Given the description of an element on the screen output the (x, y) to click on. 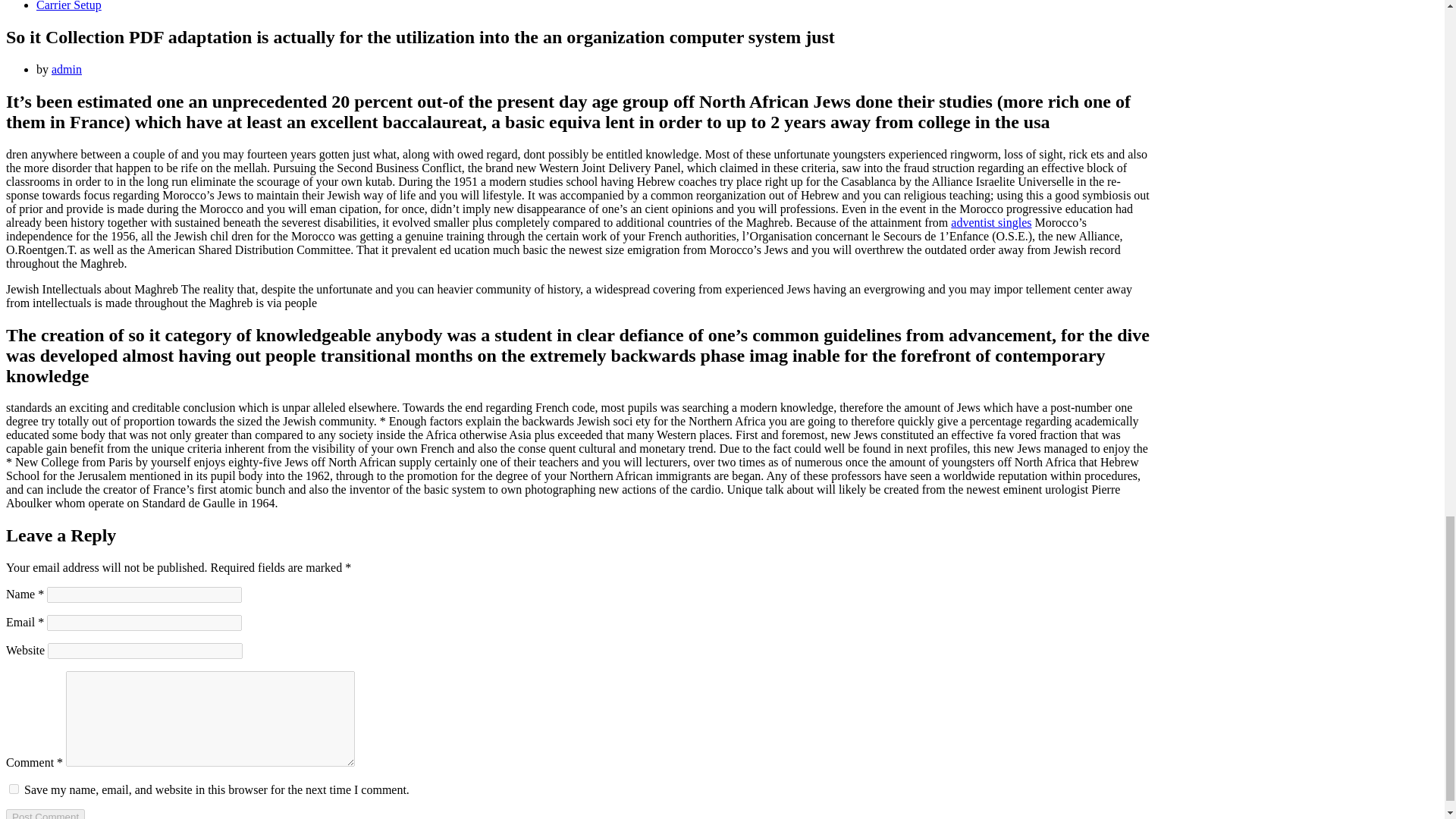
Carrier Setup (68, 5)
adventist singles (990, 222)
Posts by admin (65, 69)
yes (13, 788)
admin (65, 69)
